Given the description of an element on the screen output the (x, y) to click on. 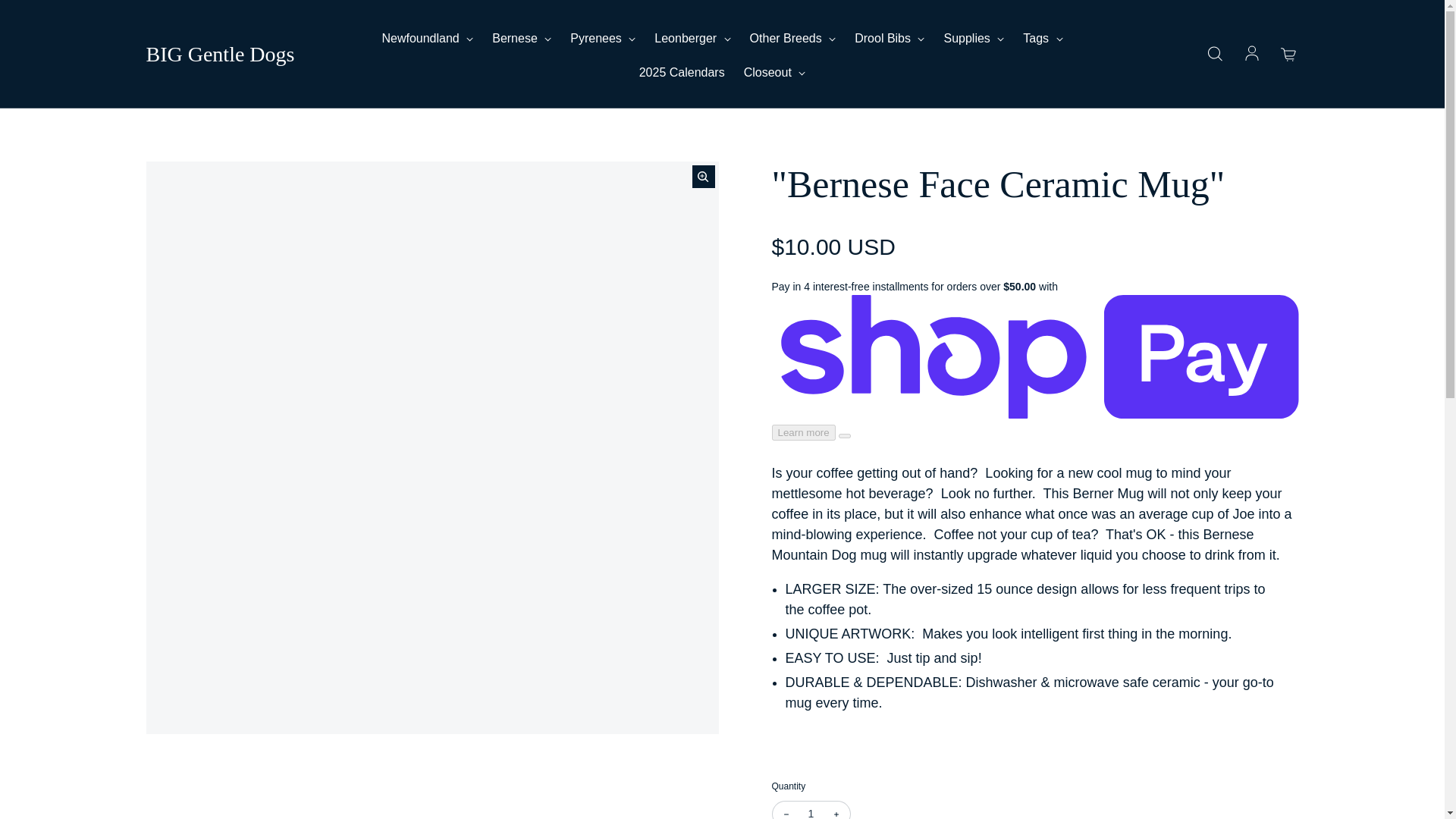
Newfoundland (427, 38)
Other Breeds (792, 38)
Supplies (973, 38)
Bernese (521, 38)
2025 Calendars (682, 72)
Tags (1042, 38)
Pyrenees (602, 38)
Leonberger (691, 38)
1 (810, 809)
